Given the description of an element on the screen output the (x, y) to click on. 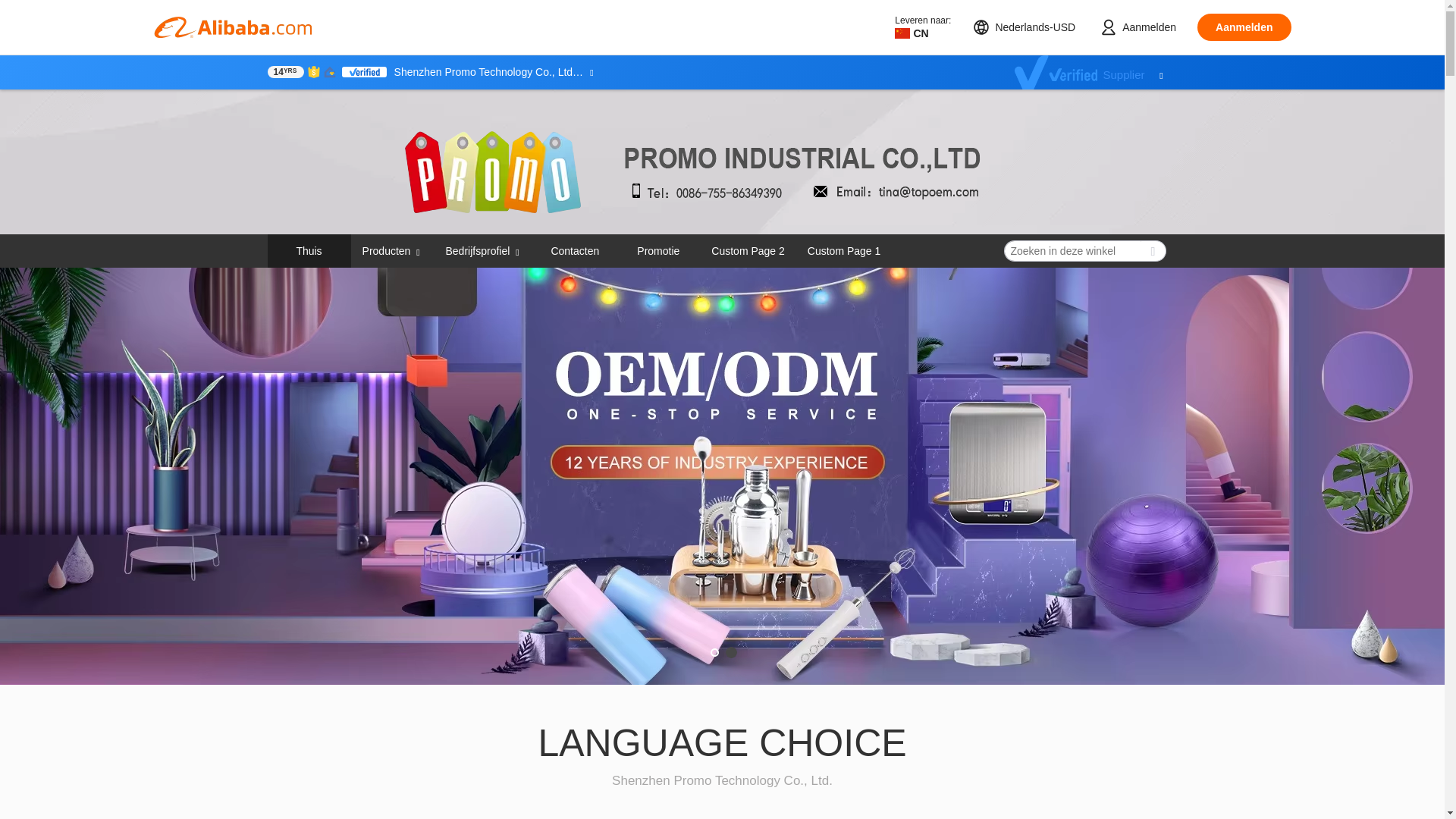
What is Gold Supplier? (284, 71)
Producten (386, 250)
Thuis (309, 250)
14YRS (284, 71)
Thuis (308, 250)
Producten (391, 250)
Supplier (1095, 72)
